Given the description of an element on the screen output the (x, y) to click on. 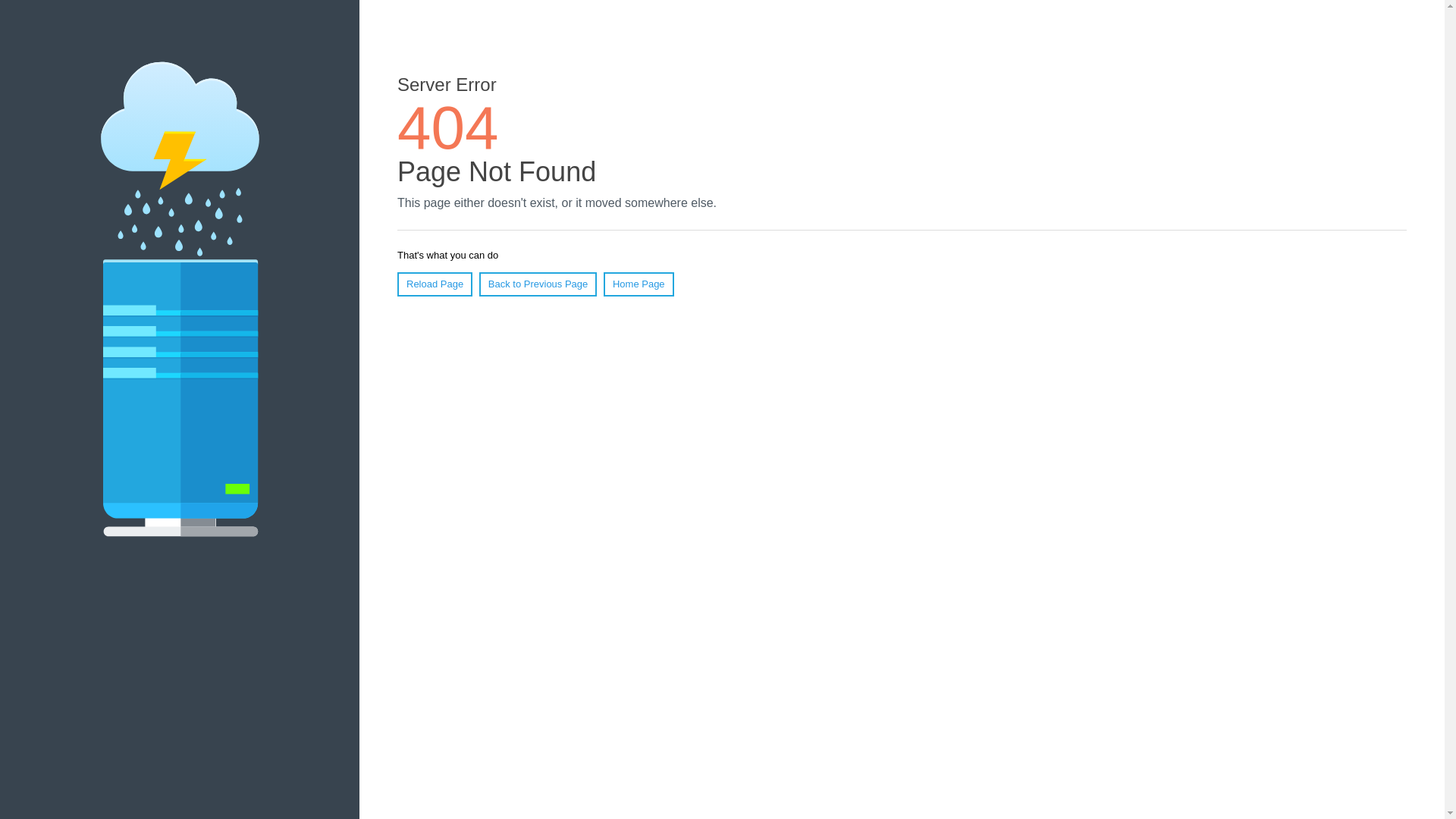
Home Page Element type: text (638, 284)
Back to Previous Page Element type: text (538, 284)
Reload Page Element type: text (434, 284)
